Given the description of an element on the screen output the (x, y) to click on. 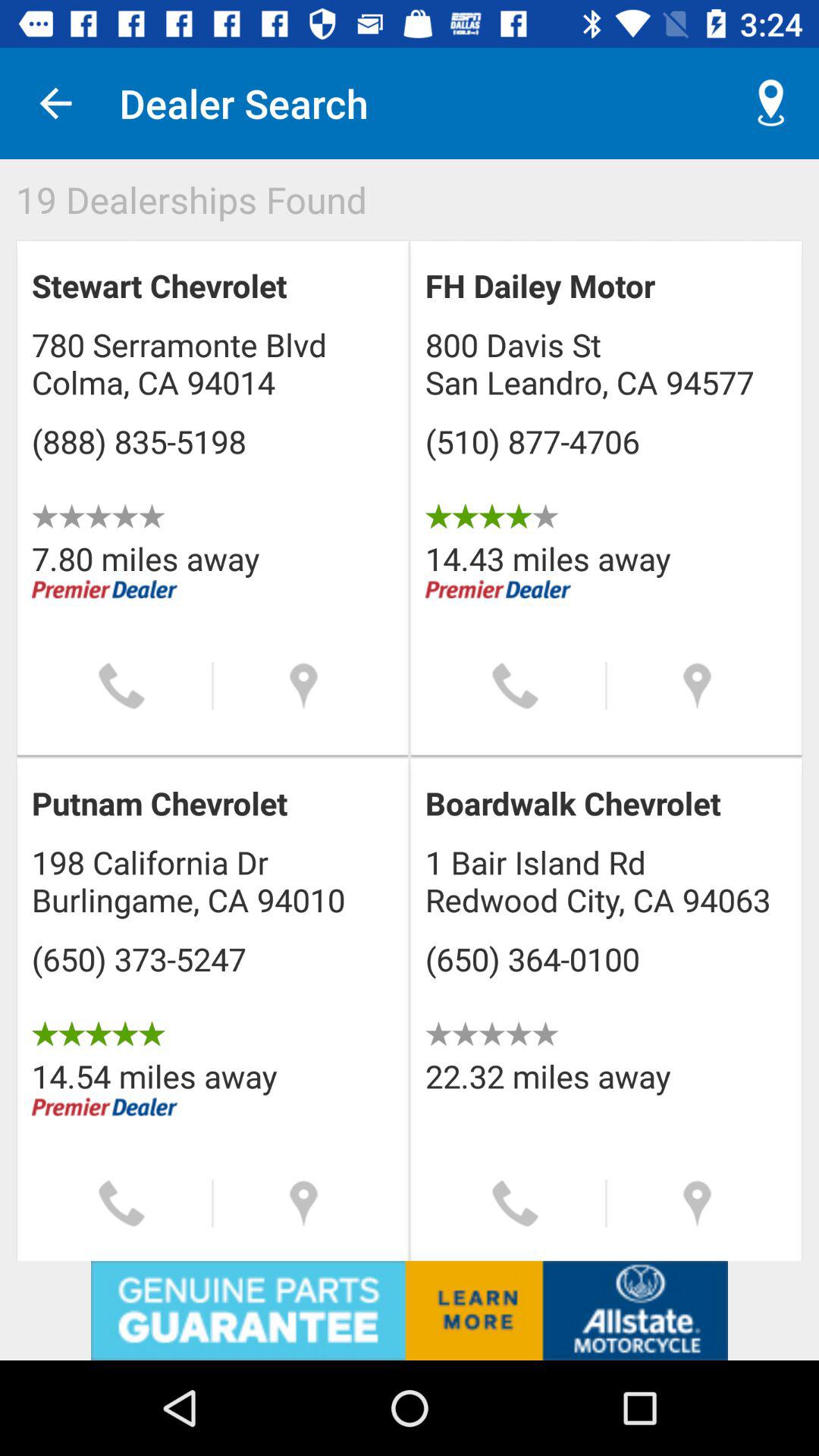
location (303, 1203)
